Given the description of an element on the screen output the (x, y) to click on. 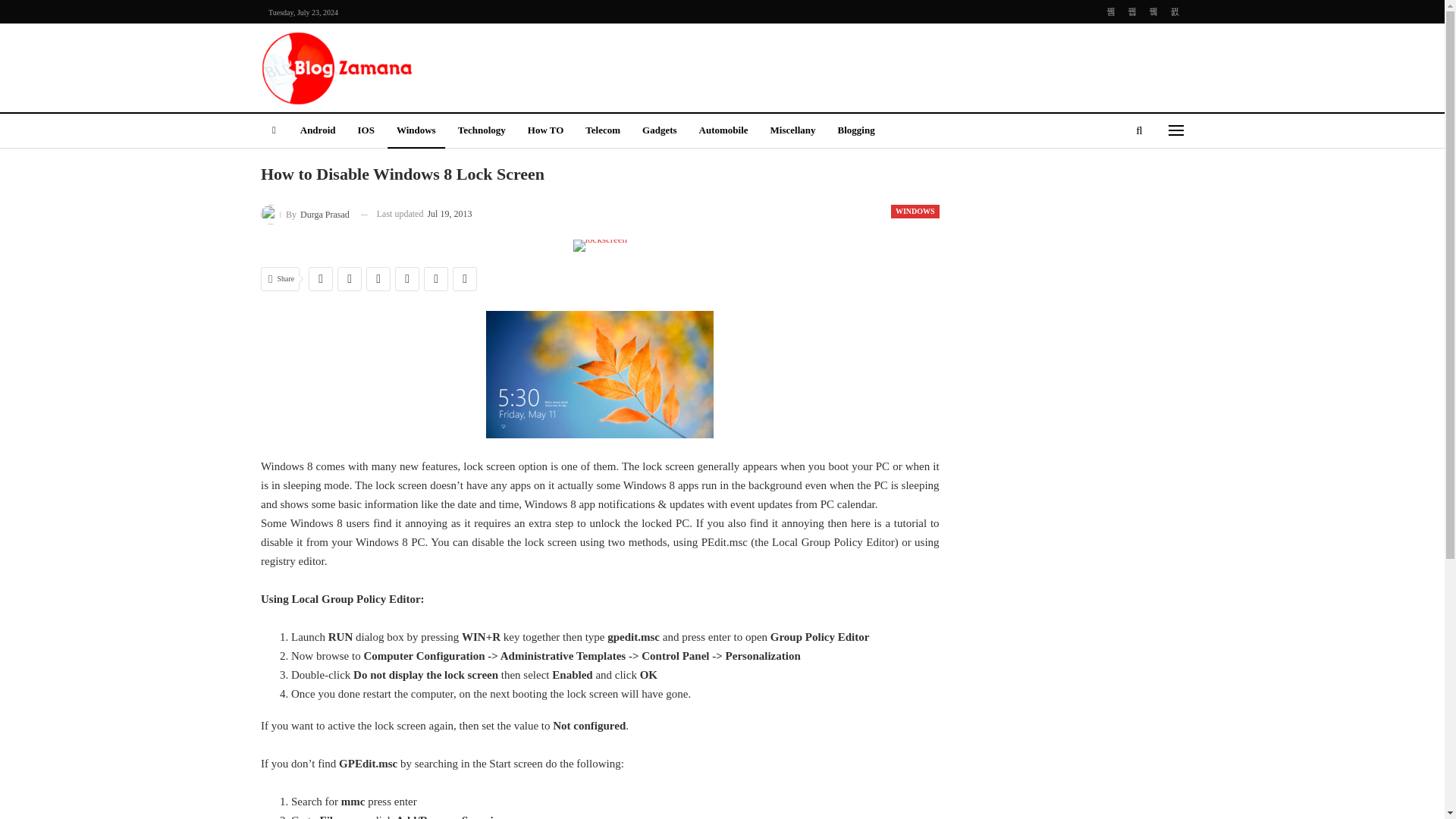
Browse Author Articles (304, 213)
IOS (364, 131)
WINDOWS (915, 211)
Windows (416, 131)
Android (318, 131)
Telecom (602, 131)
Gadgets (659, 131)
Automobile (723, 131)
Blogging (855, 131)
By Durga Prasad (304, 213)
How TO (545, 131)
Miscellany (793, 131)
Technology (481, 131)
